Given the description of an element on the screen output the (x, y) to click on. 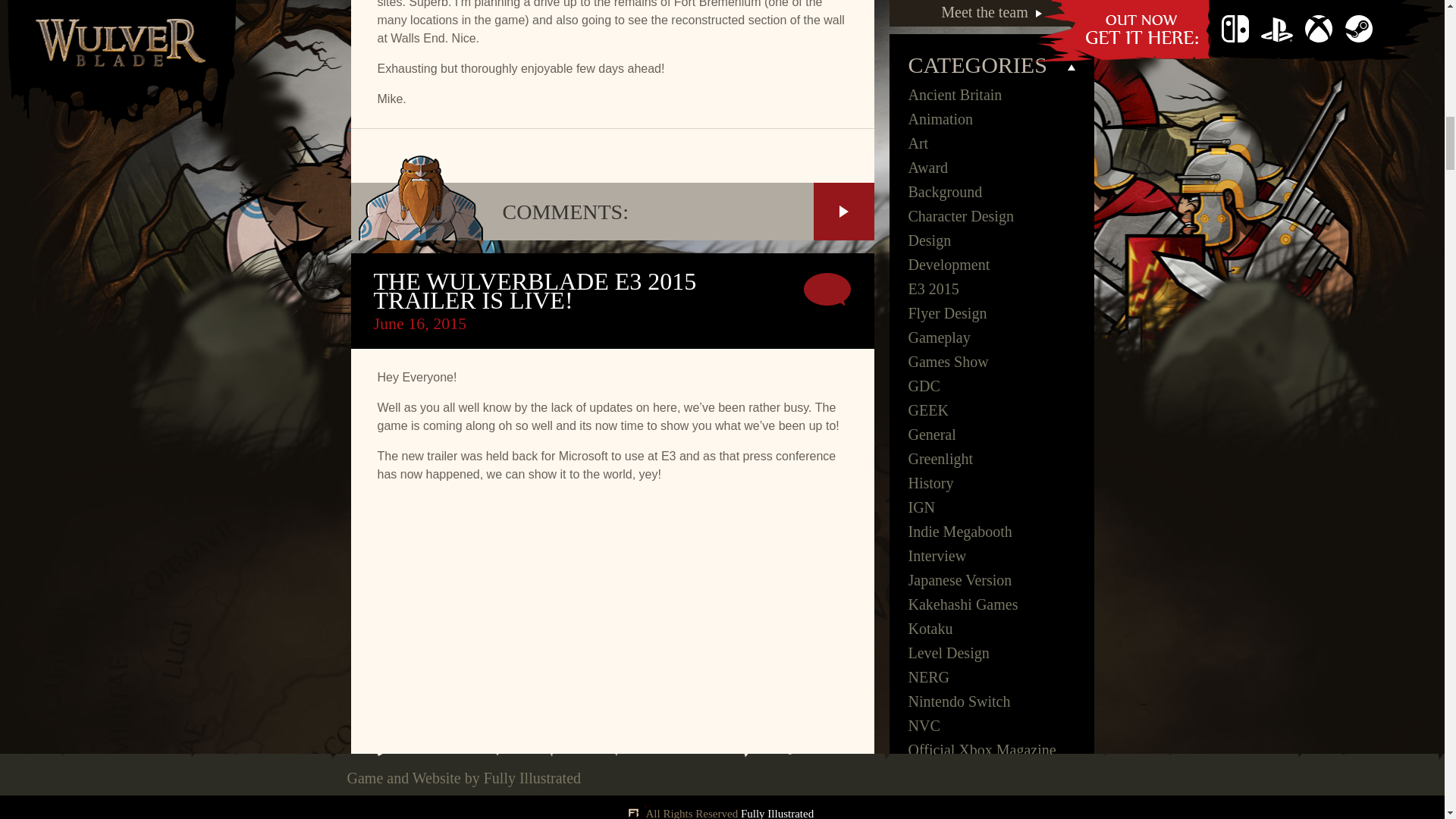
COMMENTS: (611, 211)
The Wulverblade E3 2015 Trailer is Live! (533, 290)
THE WULVERBLADE E3 2015 TRAILER IS LIVE! (533, 290)
